Given the description of an element on the screen output the (x, y) to click on. 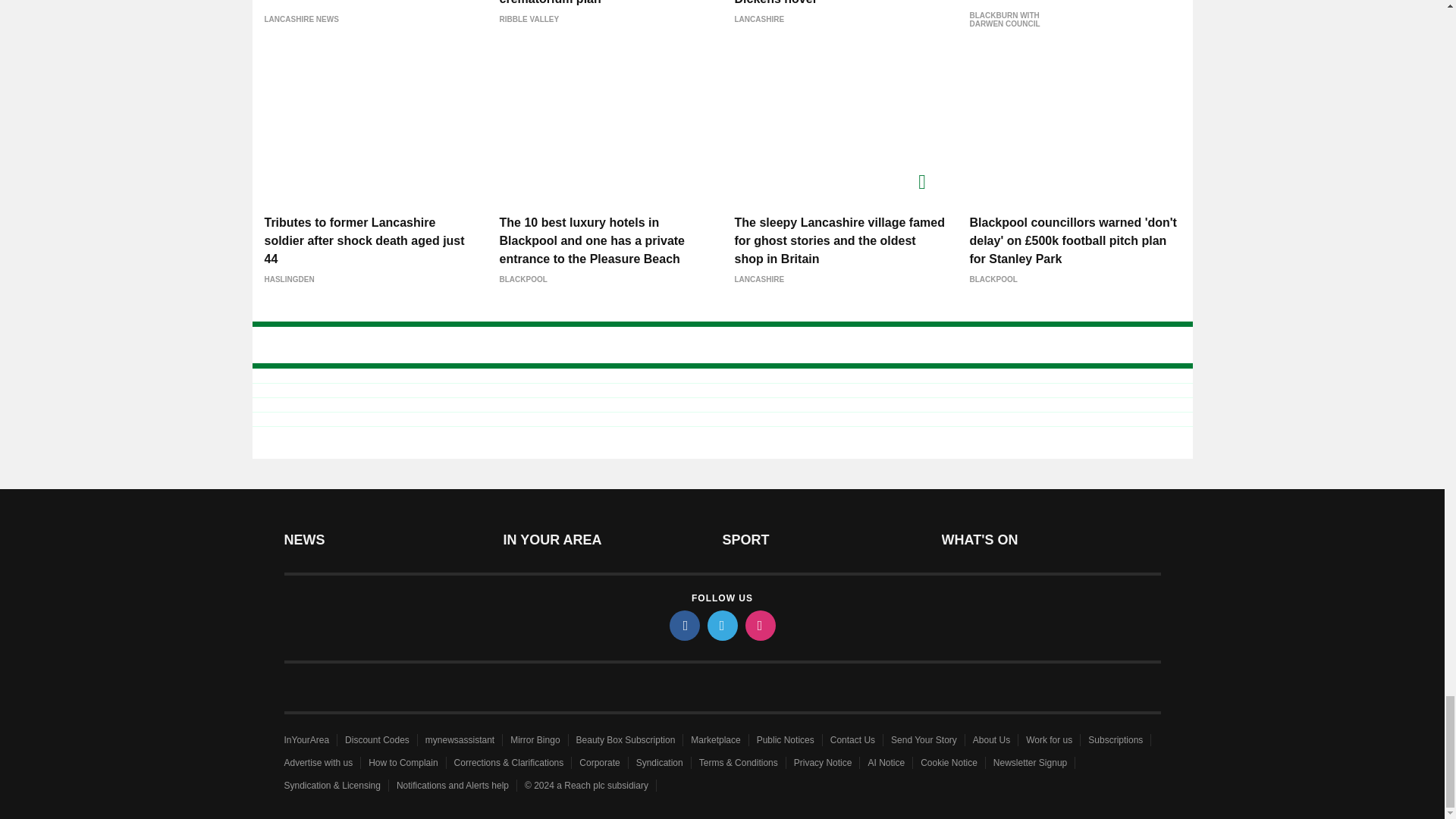
instagram (759, 625)
twitter (721, 625)
facebook (683, 625)
